Given the description of an element on the screen output the (x, y) to click on. 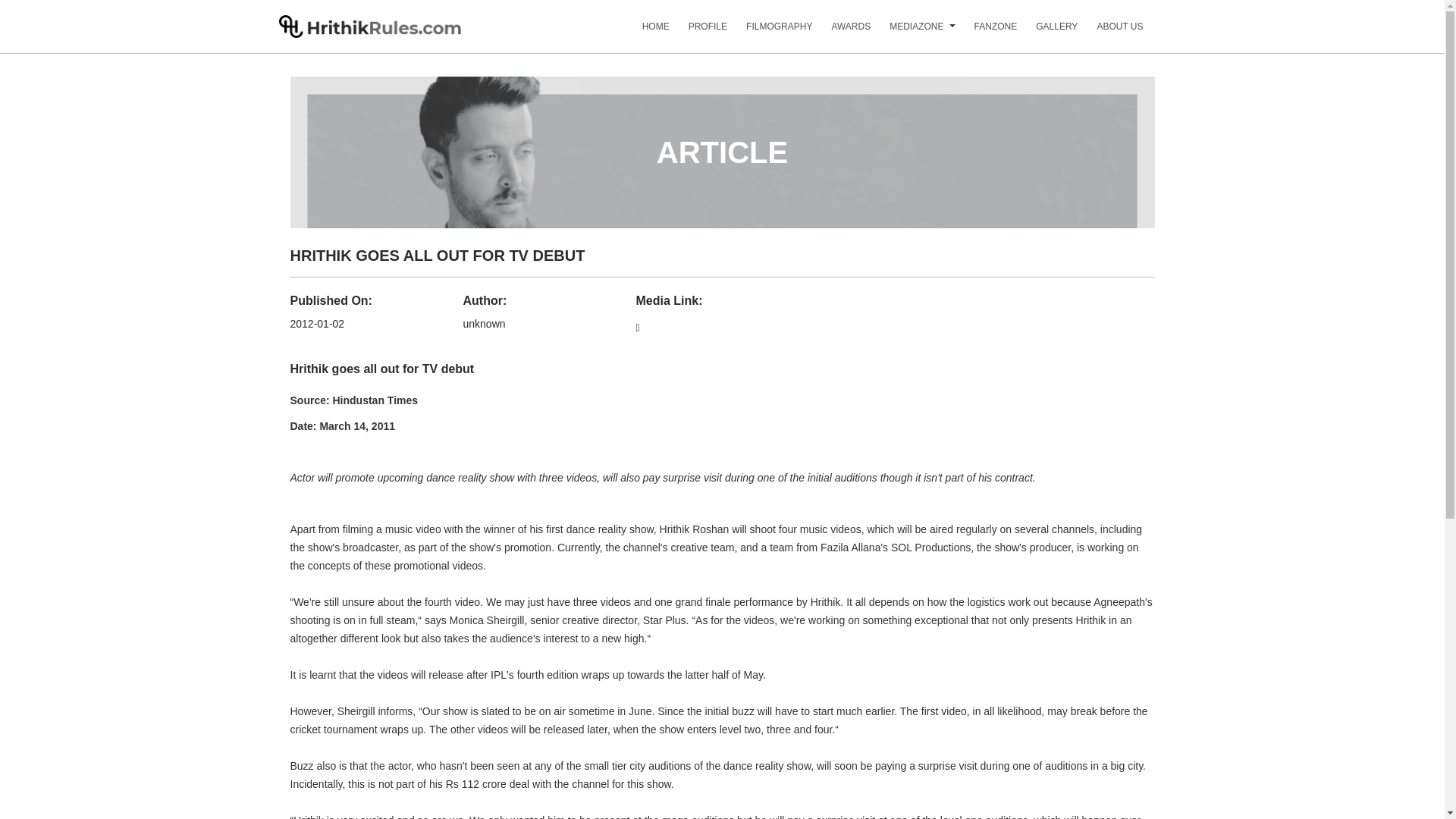
ABOUT US (1109, 31)
MEDIAZONE (906, 31)
FANZONE (986, 31)
FILMOGRAPHY (769, 31)
PROFILE (697, 31)
GALLERY (1046, 31)
HOME (646, 31)
AWARDS (841, 31)
